Given the description of an element on the screen output the (x, y) to click on. 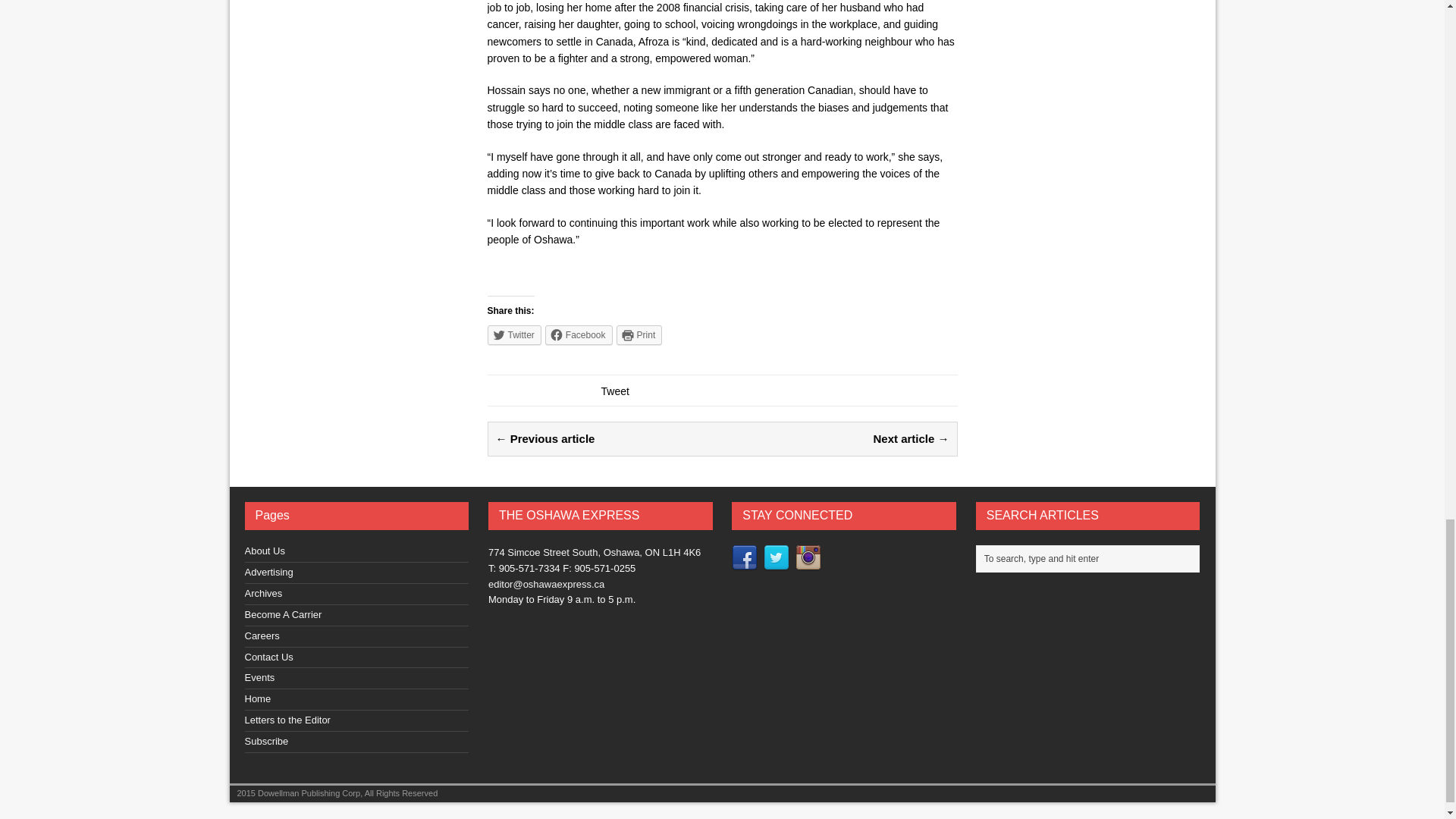
To search, type and hit enter (1091, 558)
Click to share on Twitter (513, 334)
Click to share on Facebook (578, 334)
Click to print (638, 334)
